Given the description of an element on the screen output the (x, y) to click on. 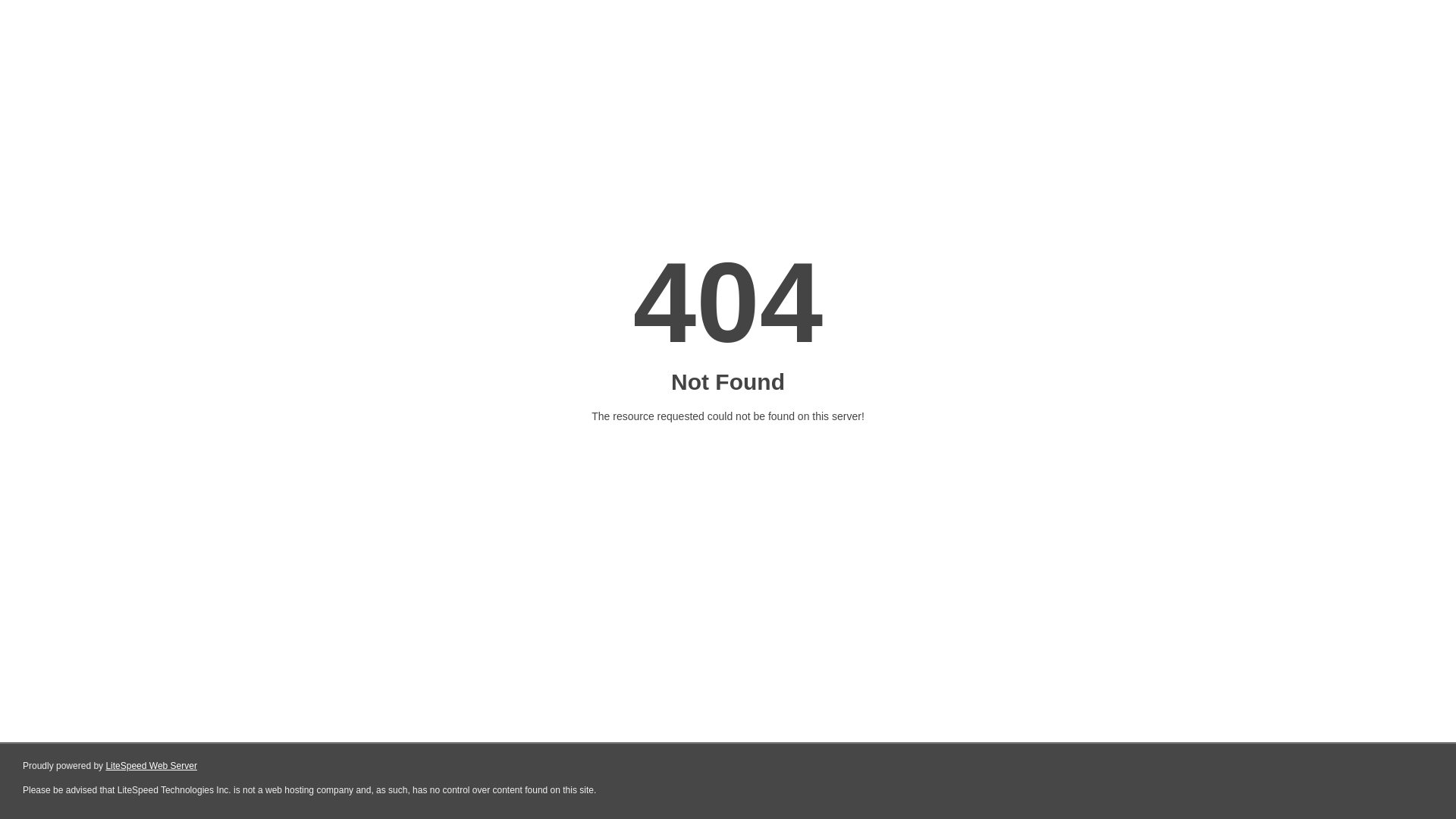
LiteSpeed Web Server Element type: text (151, 765)
